Given the description of an element on the screen output the (x, y) to click on. 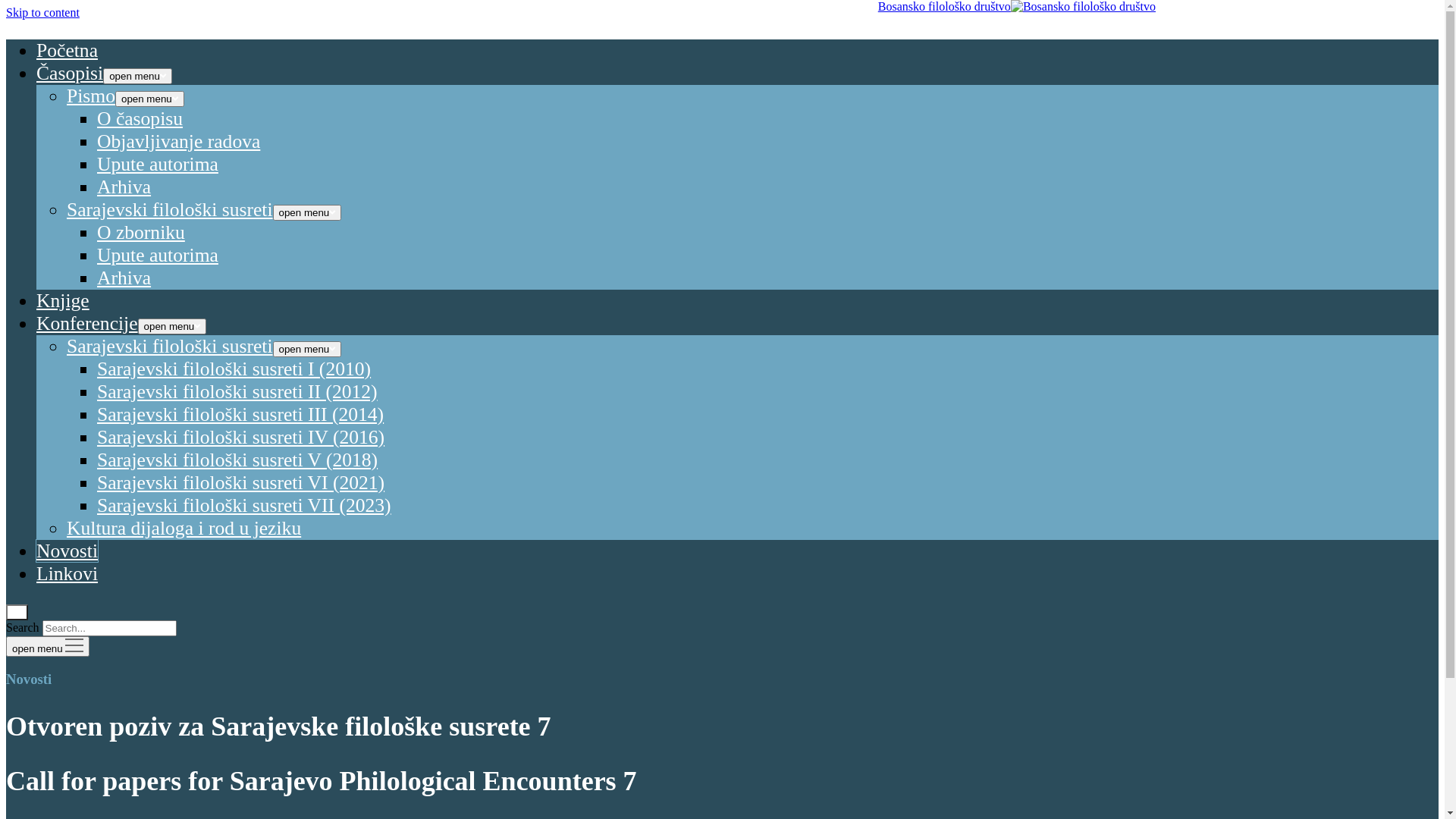
Knjige Element type: text (62, 300)
open menu Element type: text (307, 349)
Arhiva Element type: text (123, 277)
open menu Element type: text (47, 646)
Objavljivanje radova Element type: text (178, 141)
open menu Element type: text (137, 76)
Search for: Element type: hover (109, 628)
Kultura dijaloga i rod u jeziku Element type: text (183, 528)
Upute autorima Element type: text (157, 255)
Linkovi Element type: text (66, 573)
O zborniku Element type: text (141, 232)
Konferencije Element type: text (87, 323)
Skip to content Element type: text (42, 12)
open menu Element type: text (172, 326)
Upute autorima Element type: text (157, 164)
open menu Element type: text (307, 212)
open menu Element type: text (149, 98)
Arhiva Element type: text (123, 186)
Novosti Element type: text (66, 550)
Pismo Element type: text (90, 95)
